Given the description of an element on the screen output the (x, y) to click on. 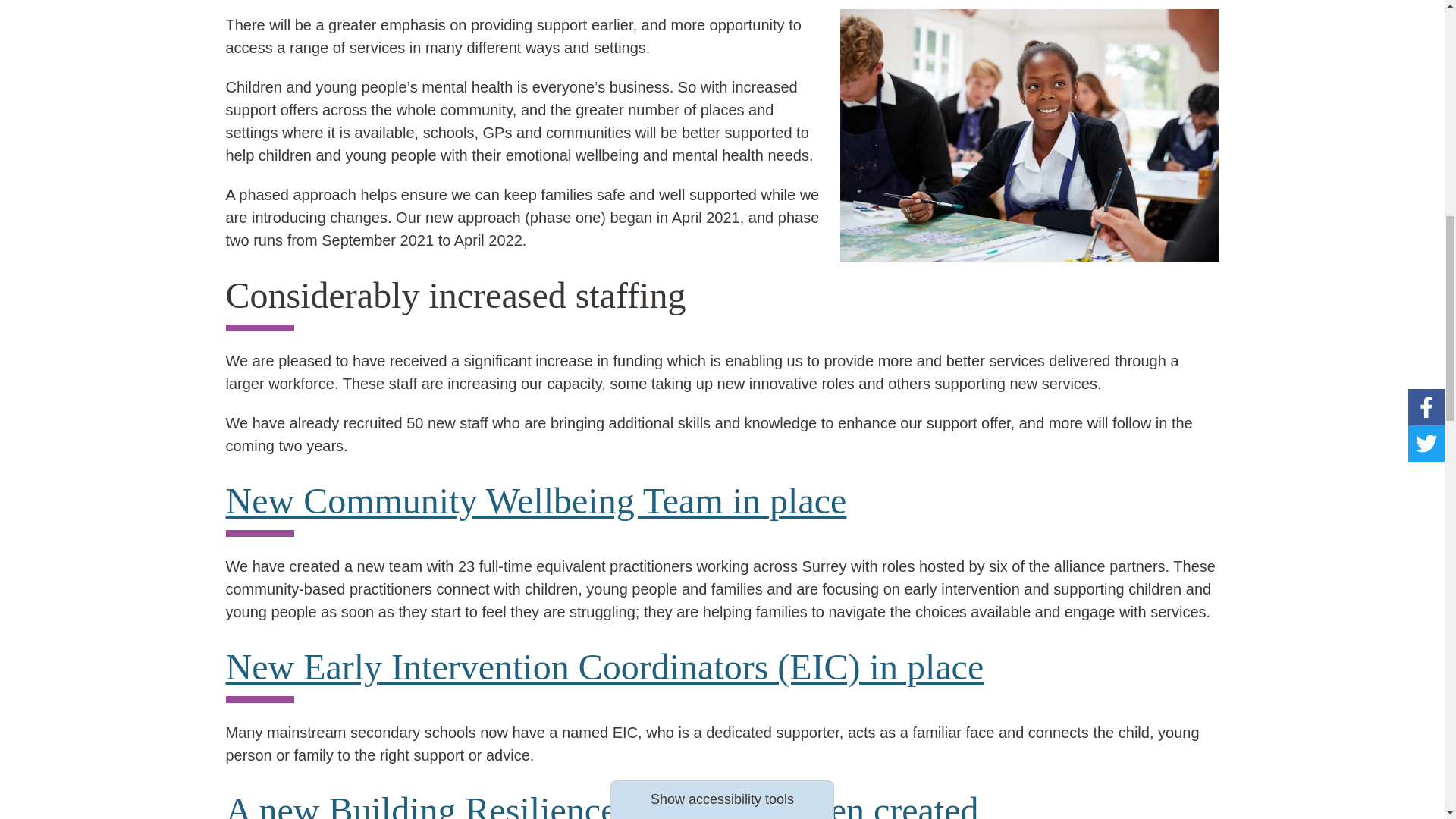
School-based needs (604, 667)
Building resilience (601, 804)
